Given the description of an element on the screen output the (x, y) to click on. 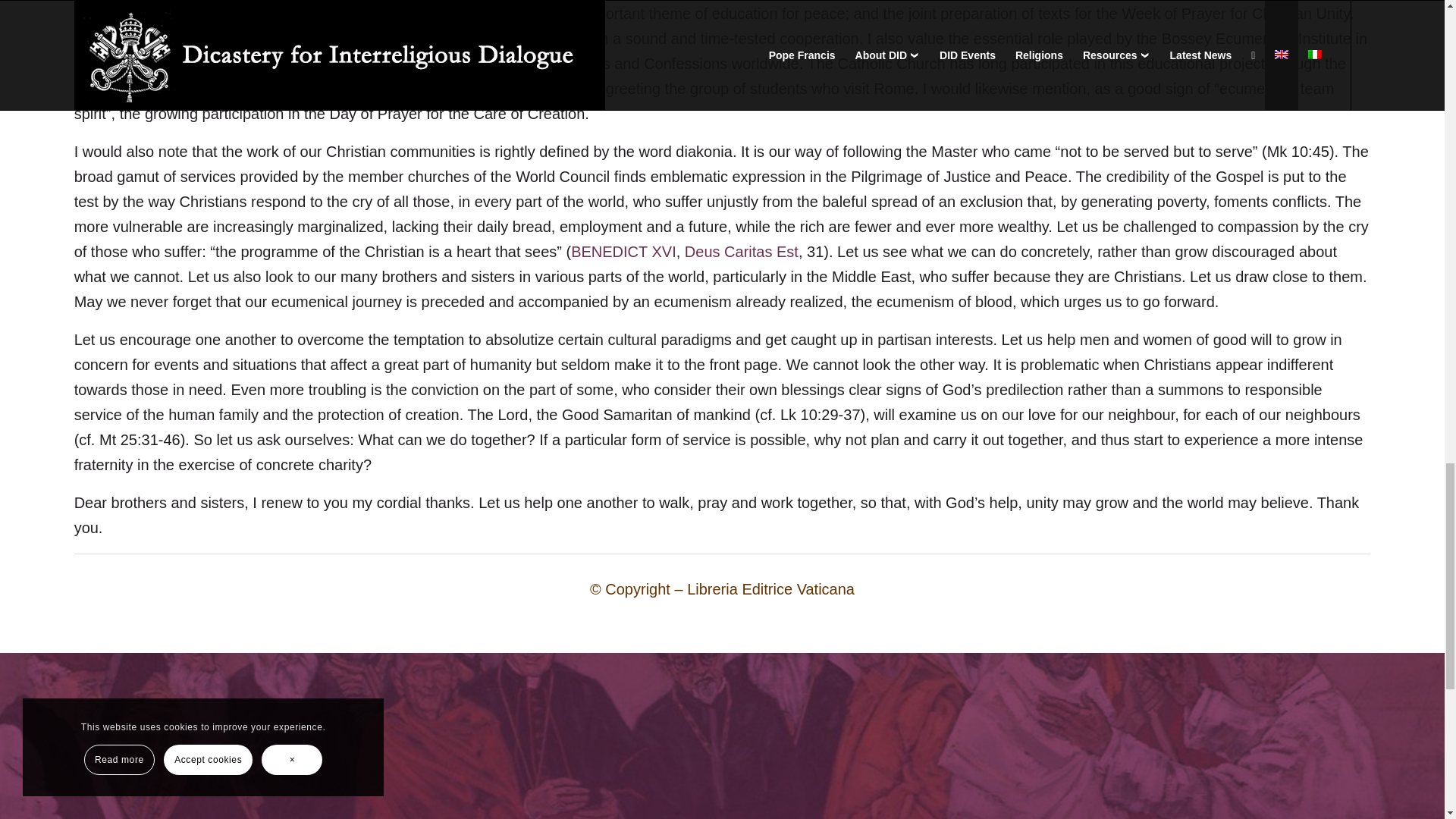
Deus Caritas Est (740, 251)
BENEDICT XVI (623, 251)
